Given the description of an element on the screen output the (x, y) to click on. 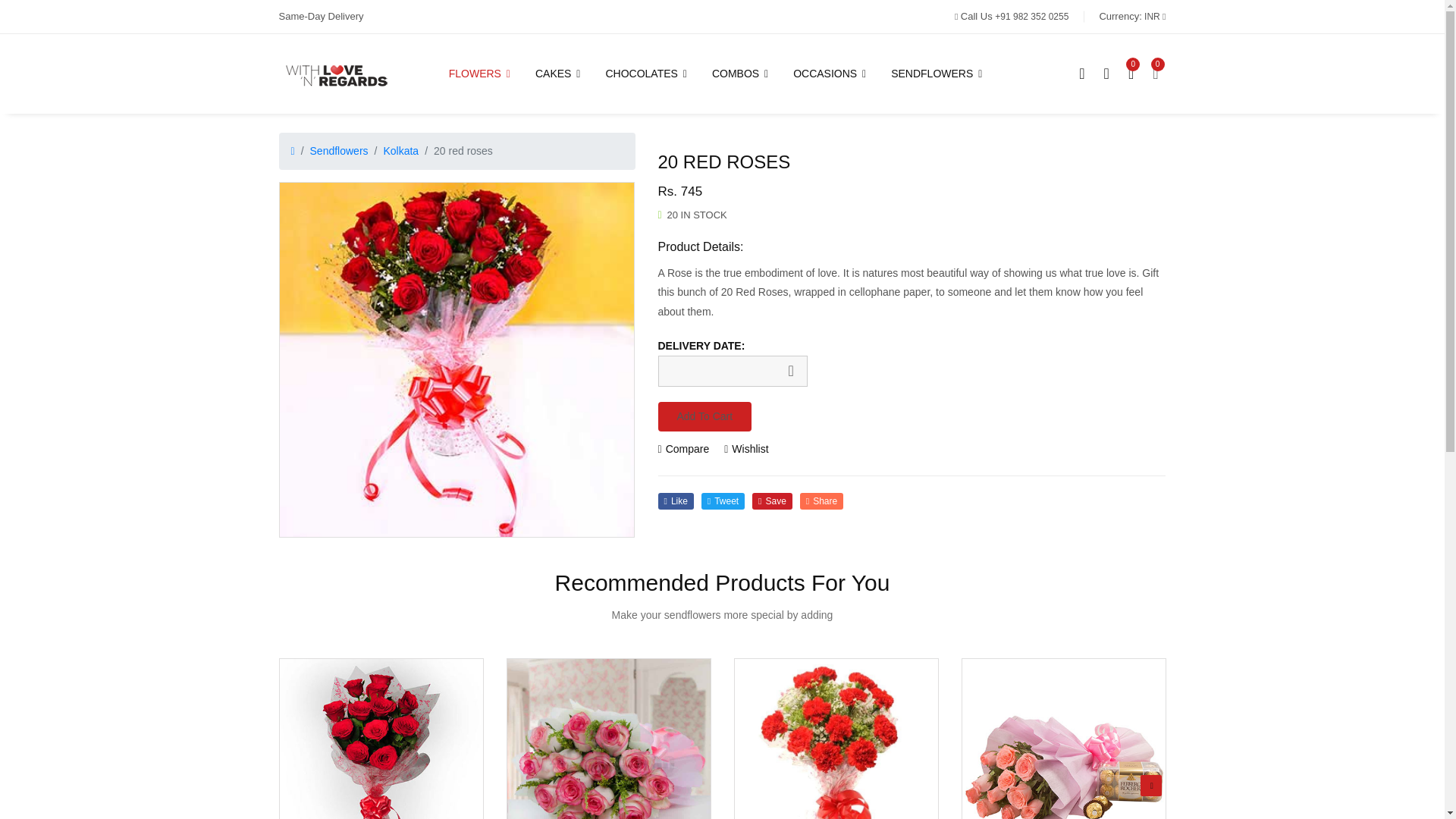
Chocolates (647, 73)
FLOWERS (486, 73)
CHOCOLATES (647, 73)
Combos (740, 73)
Flowers (486, 73)
COMBOS (740, 73)
SENDFLOWERS (937, 73)
Withlovenregards (338, 73)
OCCASIONS (830, 73)
